Given the description of an element on the screen output the (x, y) to click on. 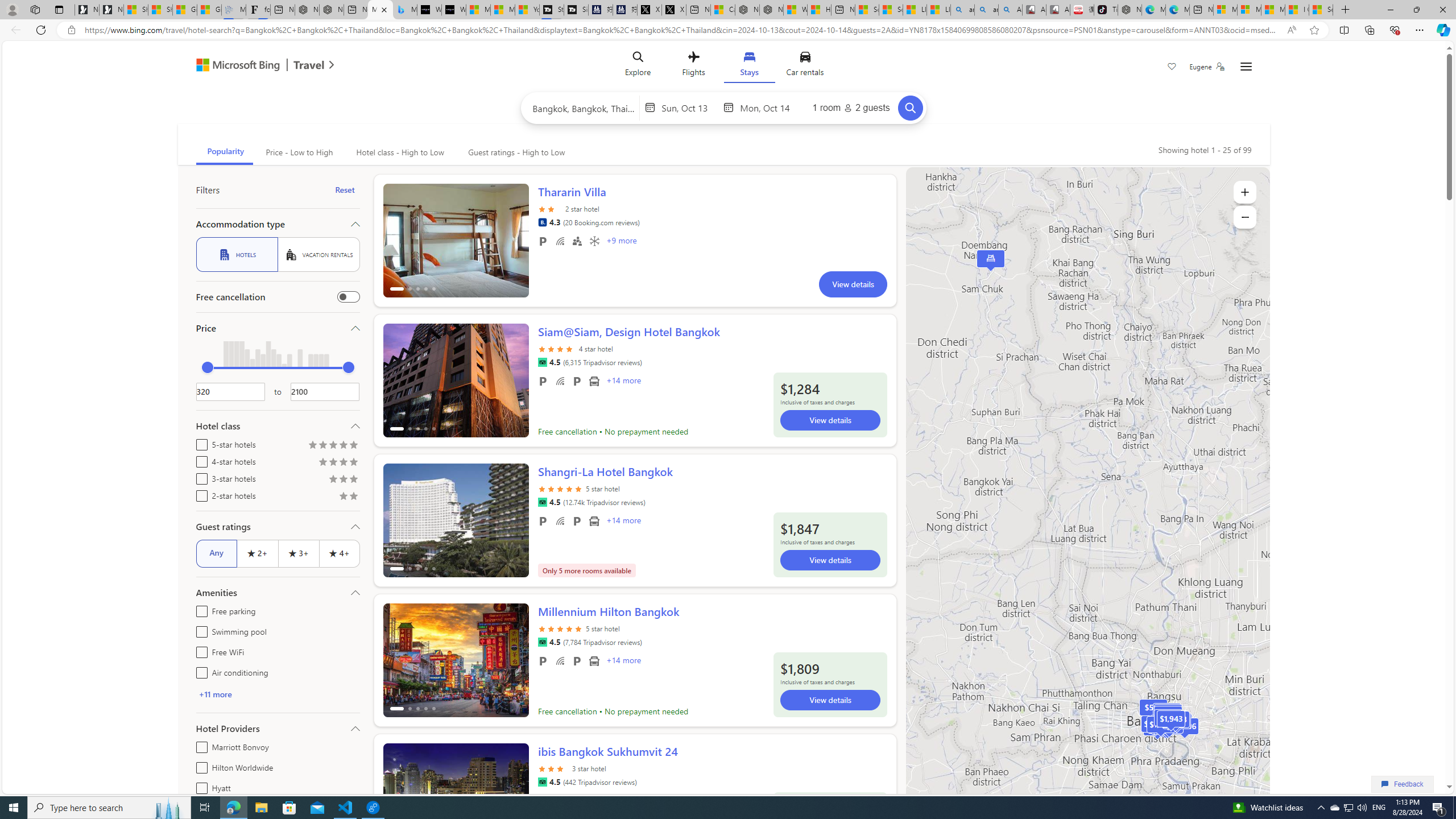
4-star hotels (199, 459)
Free parking (542, 660)
Hotel class (277, 425)
Free WiFi (559, 660)
